Given the description of an element on the screen output the (x, y) to click on. 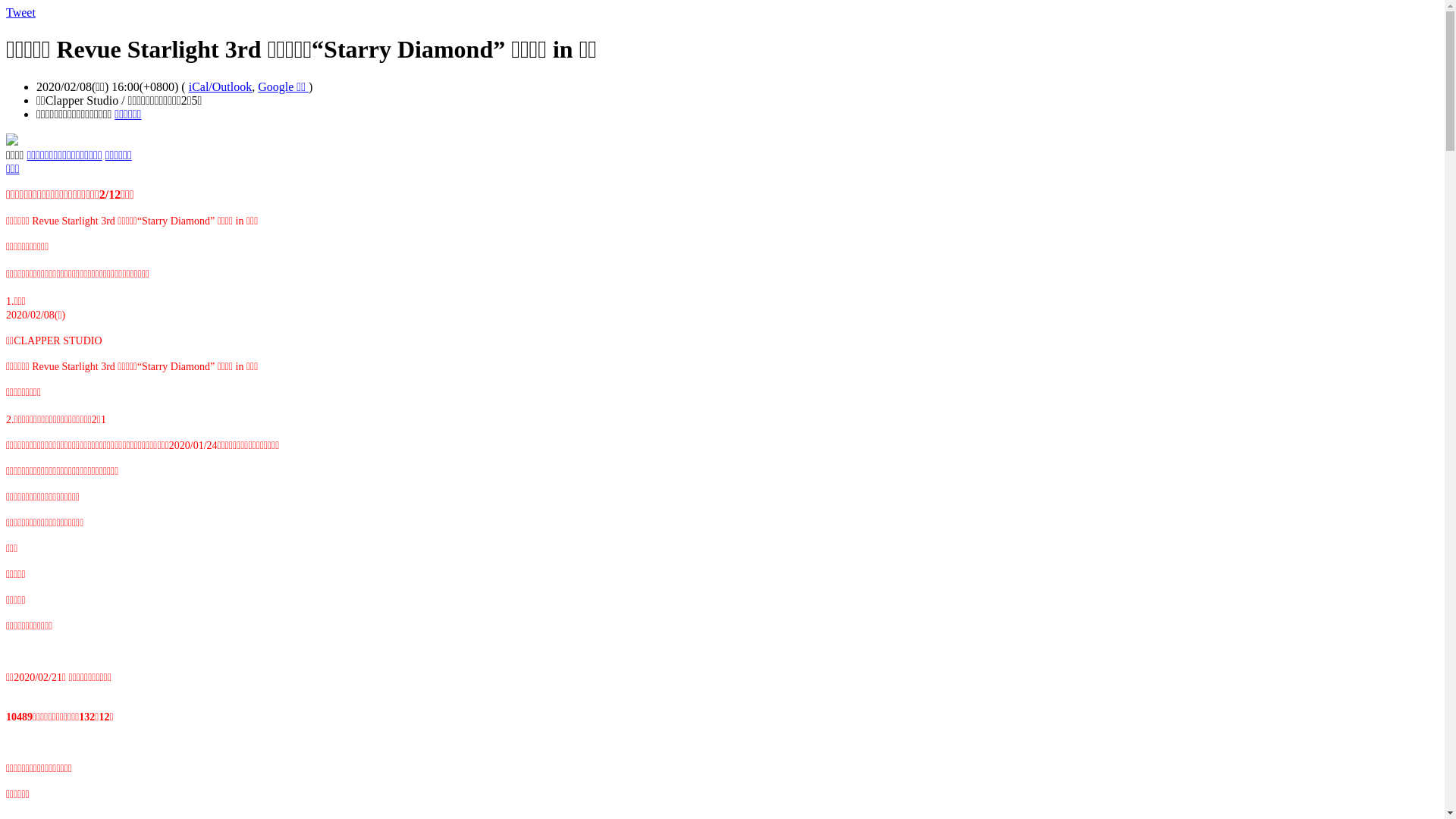
Tweet Element type: text (20, 12)
iCal/Outlook Element type: text (220, 86)
